Given the description of an element on the screen output the (x, y) to click on. 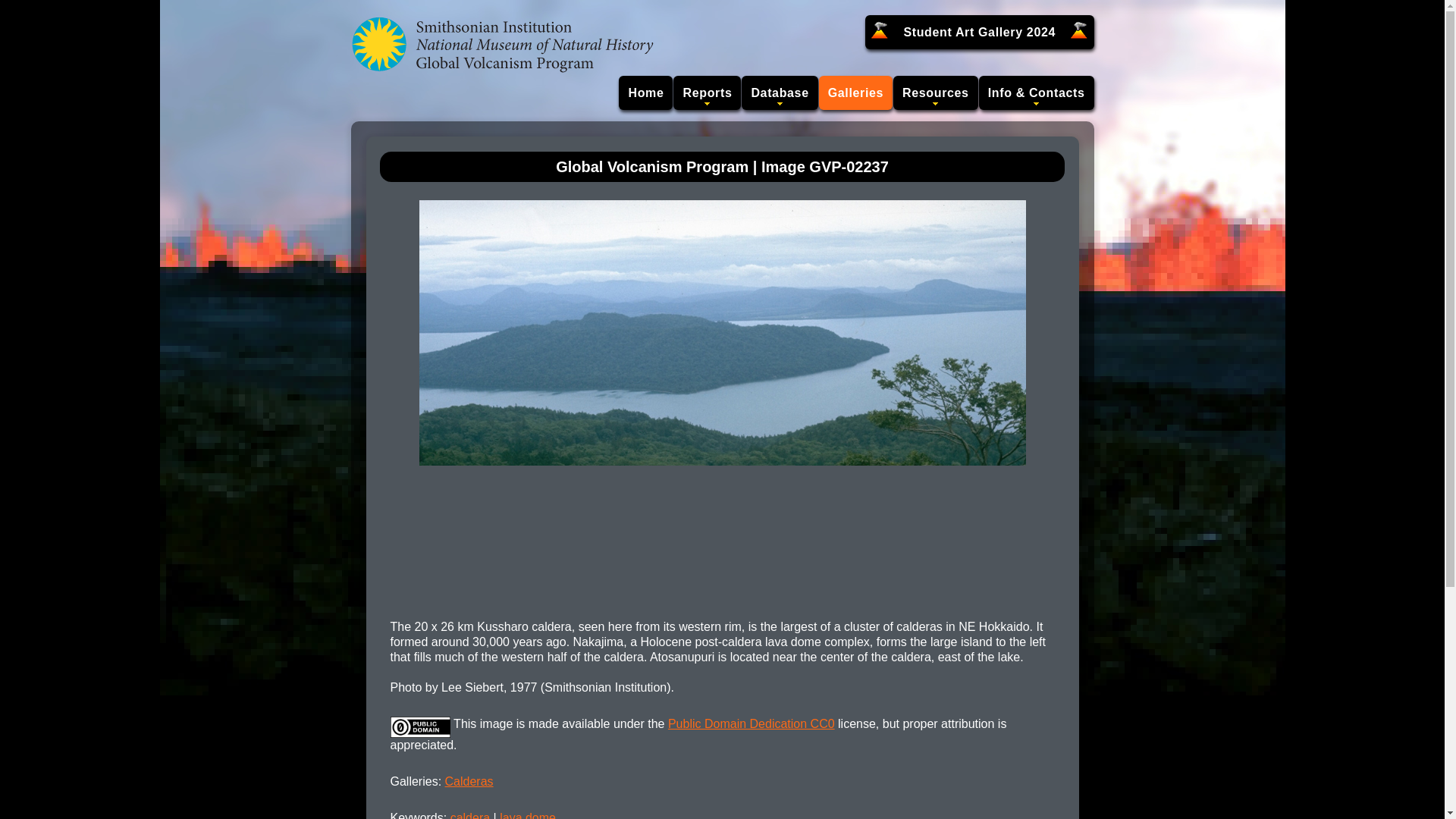
Home (645, 92)
Student Art Gallery 2024 (978, 32)
Galleries (855, 92)
Database (778, 92)
lava dome (527, 815)
Reports (706, 92)
Resources (935, 92)
Public Domain Dedication CC0 (751, 723)
Calderas (469, 780)
caldera (469, 815)
